Given the description of an element on the screen output the (x, y) to click on. 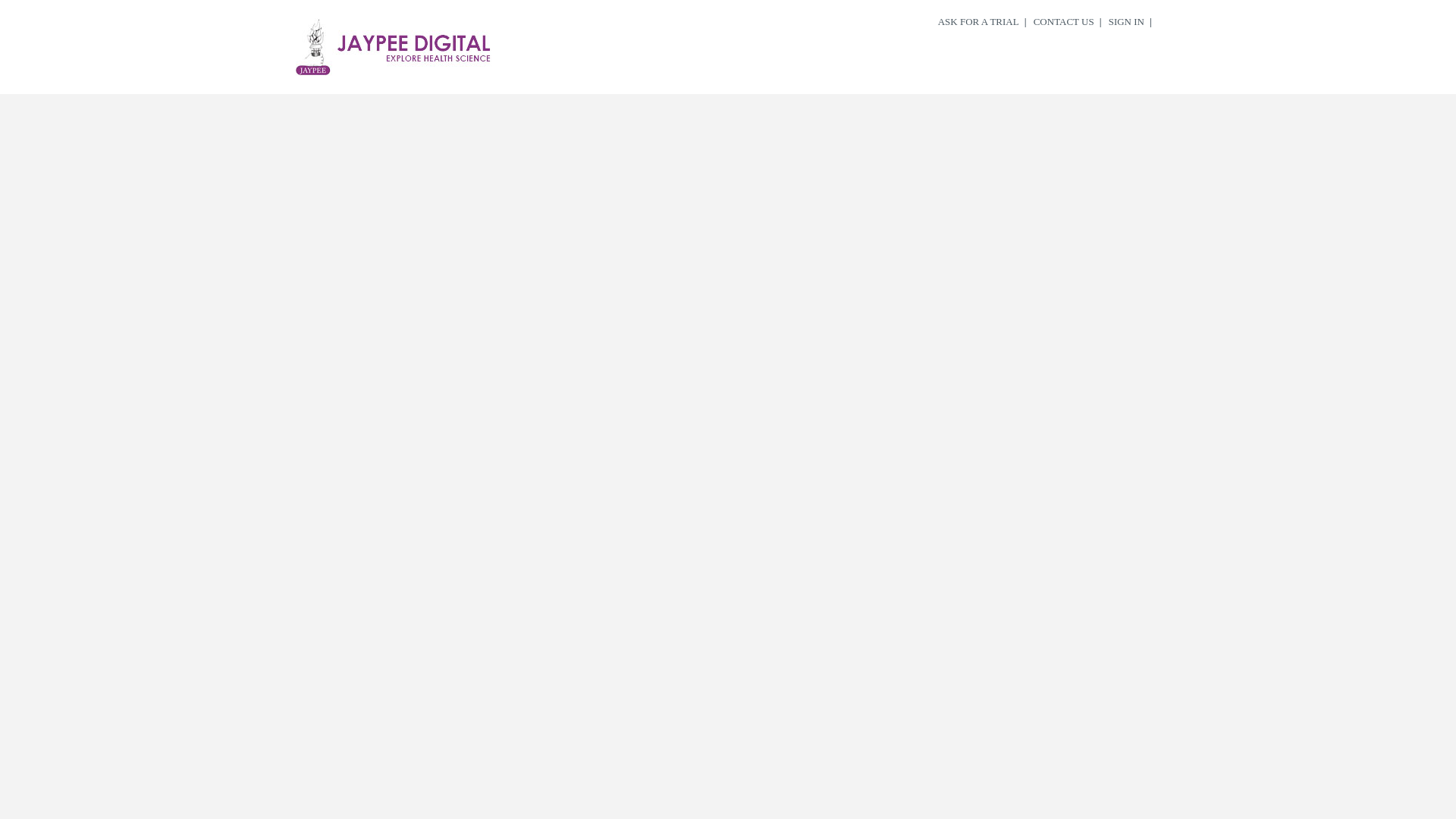
ASK FOR A TRIAL (978, 21)
CONTACT US (1063, 21)
SIGN IN (1126, 21)
